Given the description of an element on the screen output the (x, y) to click on. 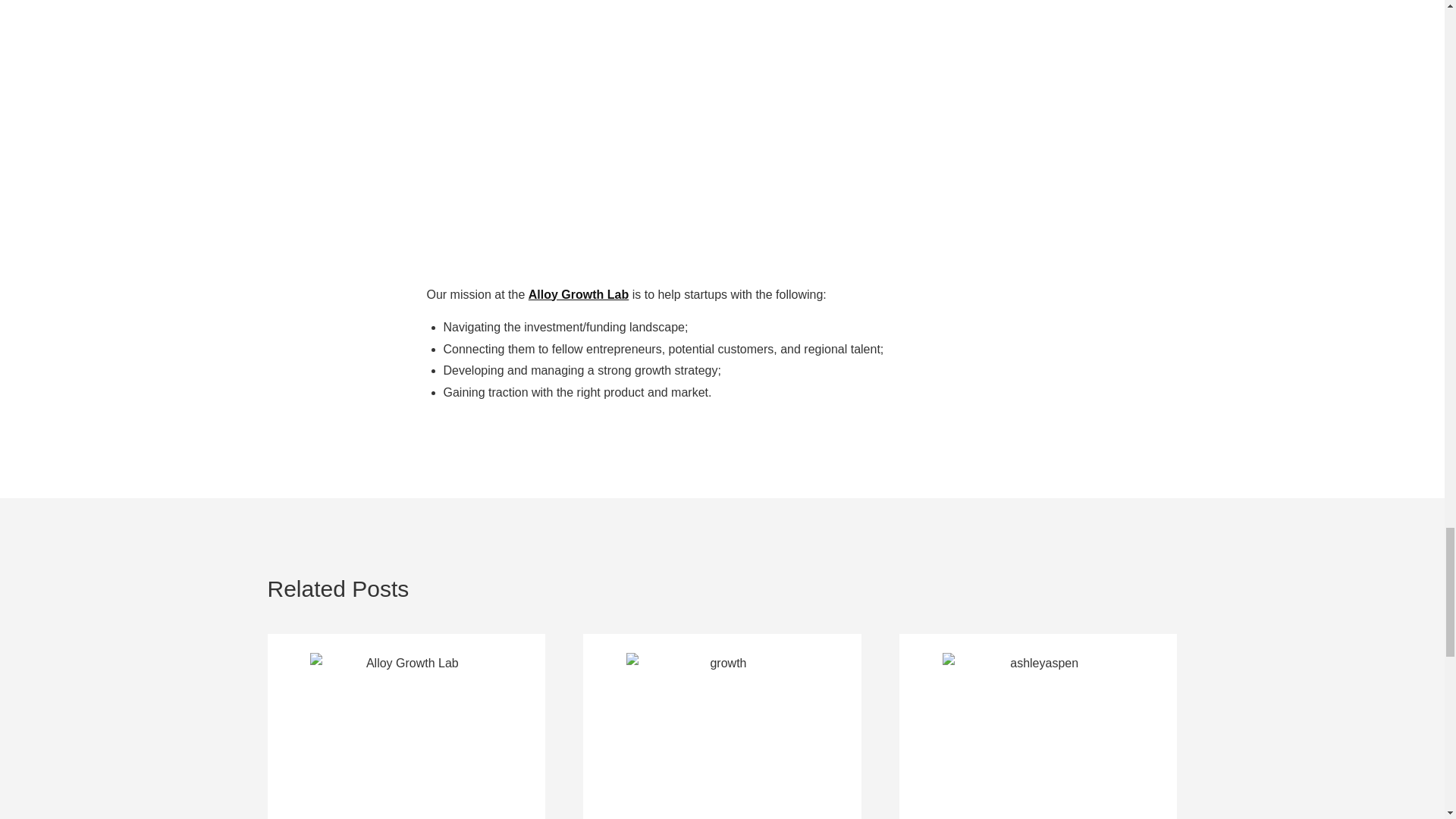
ashleyaspen (1038, 727)
growth (722, 728)
finalbldg (406, 727)
